Given the description of an element on the screen output the (x, y) to click on. 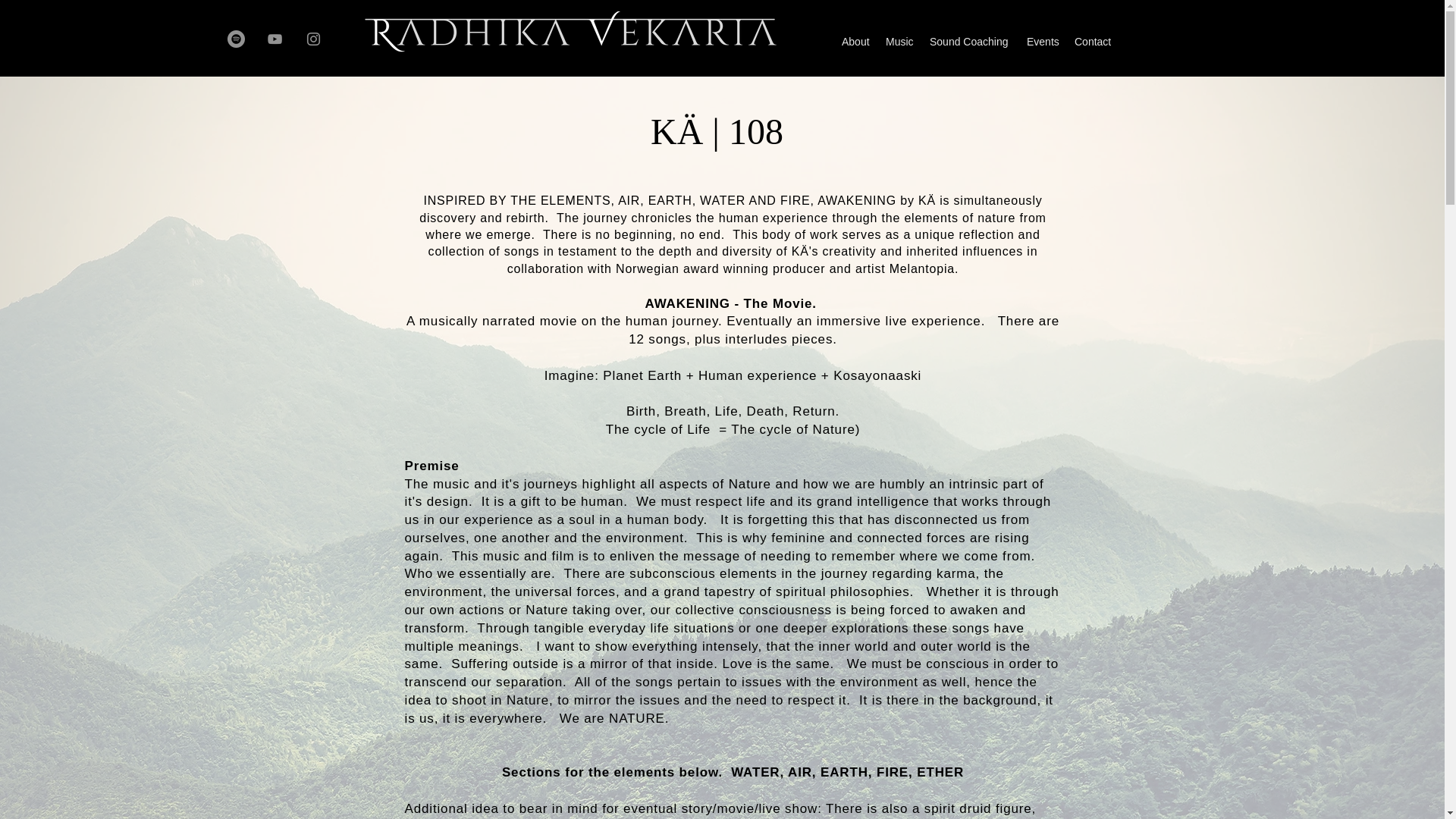
Music (899, 41)
About (855, 41)
Sound Coaching (970, 41)
Contact (1093, 41)
Events (1043, 41)
